Given the description of an element on the screen output the (x, y) to click on. 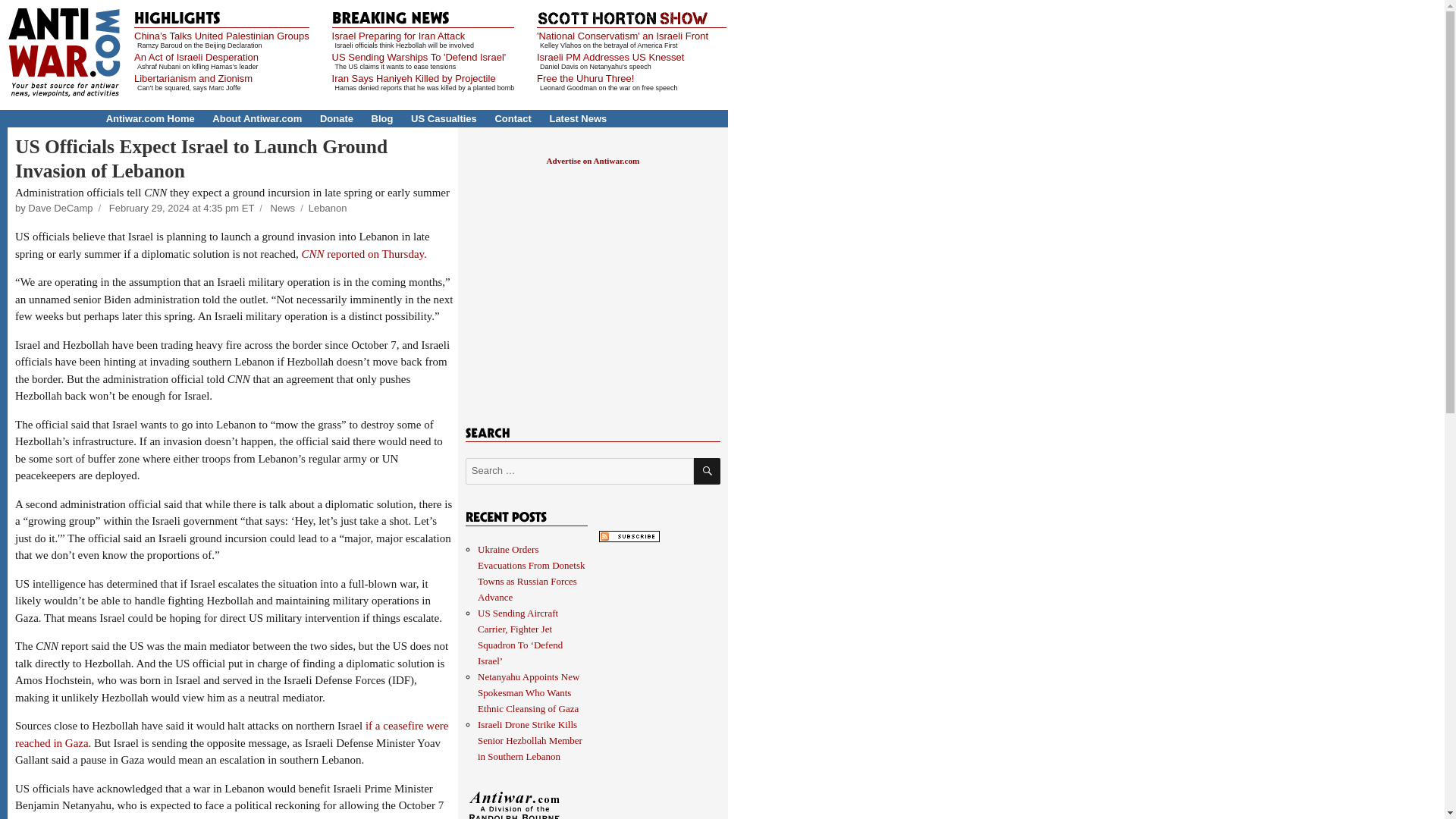
Iran Says Haniyeh Killed by Projectile (413, 78)
Latest News (577, 118)
US Sending Warships To 'Defend Israel' (418, 57)
About Antiwar.com (256, 118)
3rd party ad content (592, 286)
Israel Preparing for Iran Attack (398, 35)
News (282, 207)
US Casualties (443, 118)
Israeli PM Addresses US Knesset (610, 57)
Libertarianism and Zionism (192, 78)
Contact (513, 118)
Antiwar.com Home (150, 118)
'National Conservatism' an Israeli Front (622, 35)
by Dave DeCamp (53, 207)
CNN reported on Thursday. (363, 254)
